Given the description of an element on the screen output the (x, y) to click on. 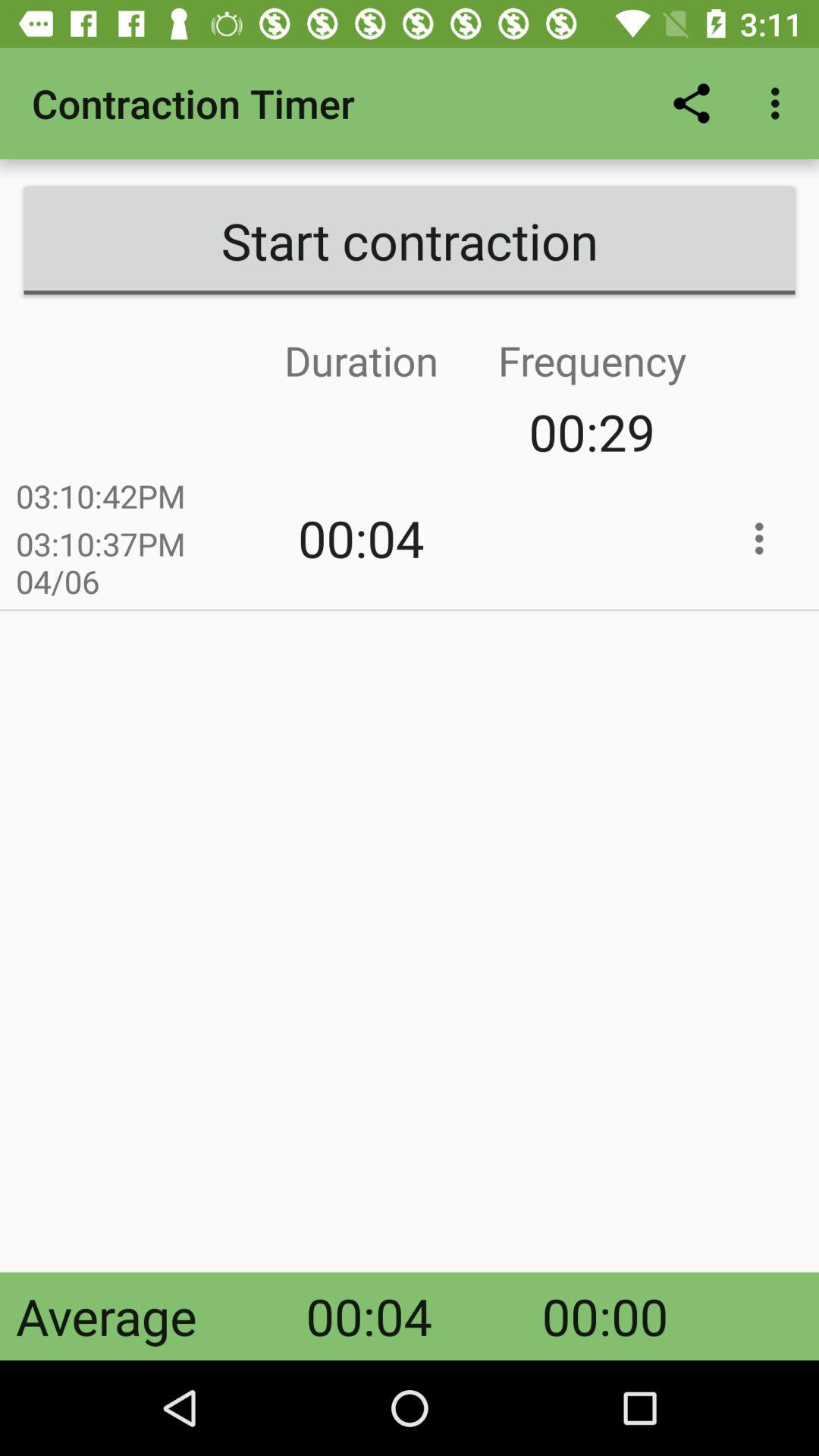
open item above the 03:10:42pm app (245, 431)
